Given the description of an element on the screen output the (x, y) to click on. 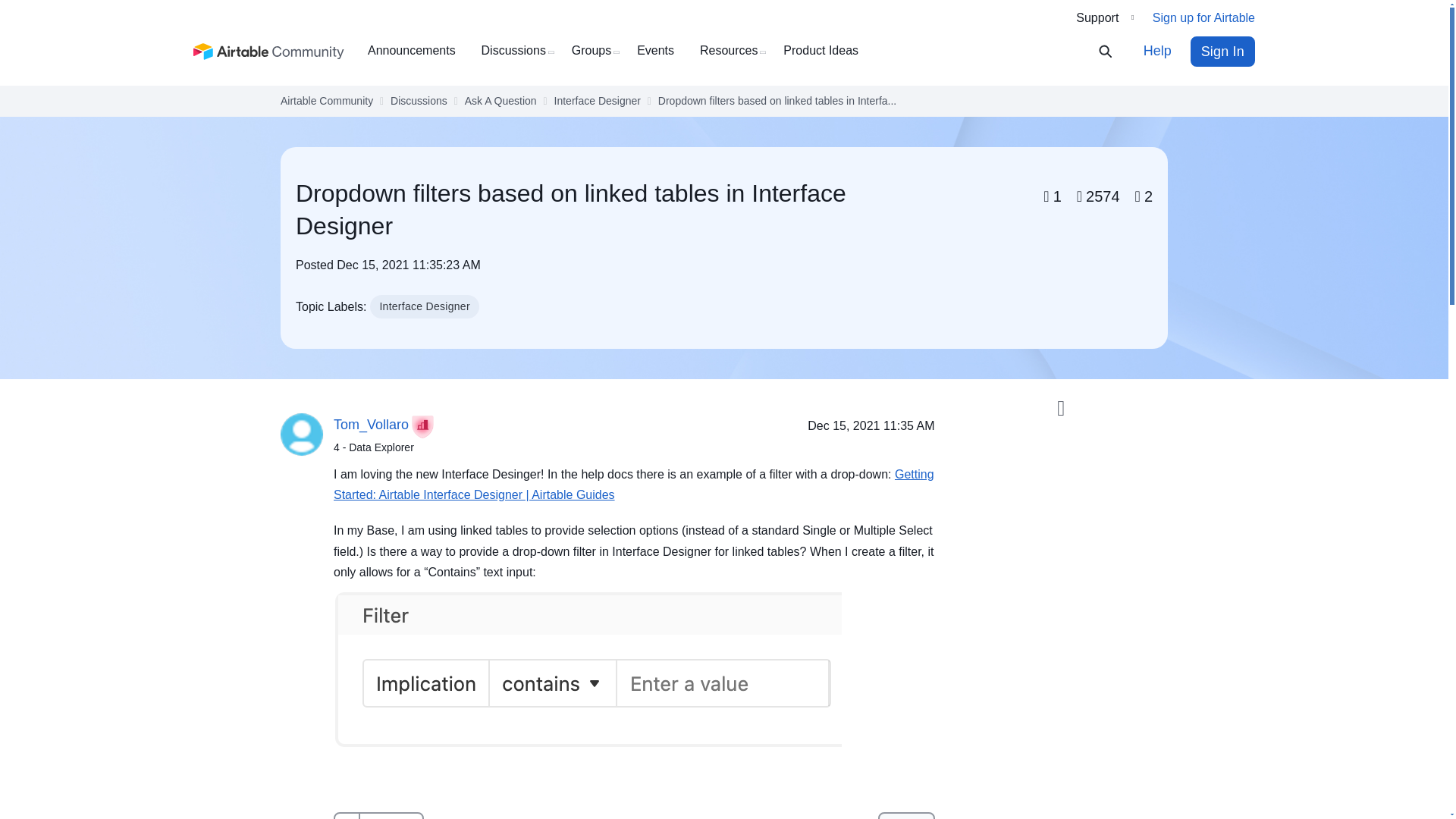
Events (661, 50)
Discussions (418, 101)
Airtable Community (269, 51)
Interface Designer (597, 101)
Sign In (1223, 51)
Support (1104, 17)
Sign up for Airtable (1204, 17)
Resources (734, 50)
Groups (597, 50)
Product Ideas (826, 50)
